Given the description of an element on the screen output the (x, y) to click on. 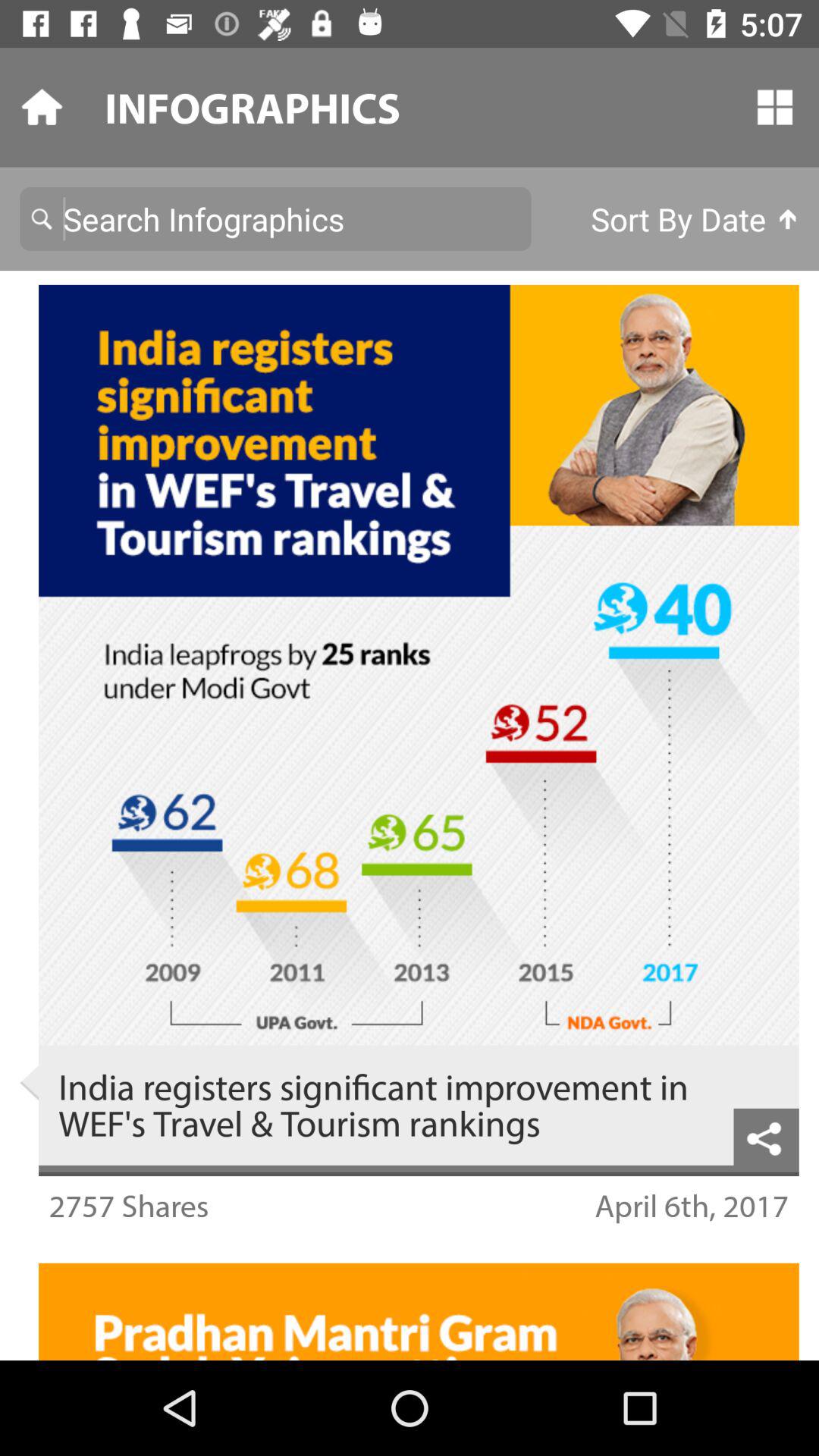
select the icon to the left of india registers significant icon (28, 1082)
